Given the description of an element on the screen output the (x, y) to click on. 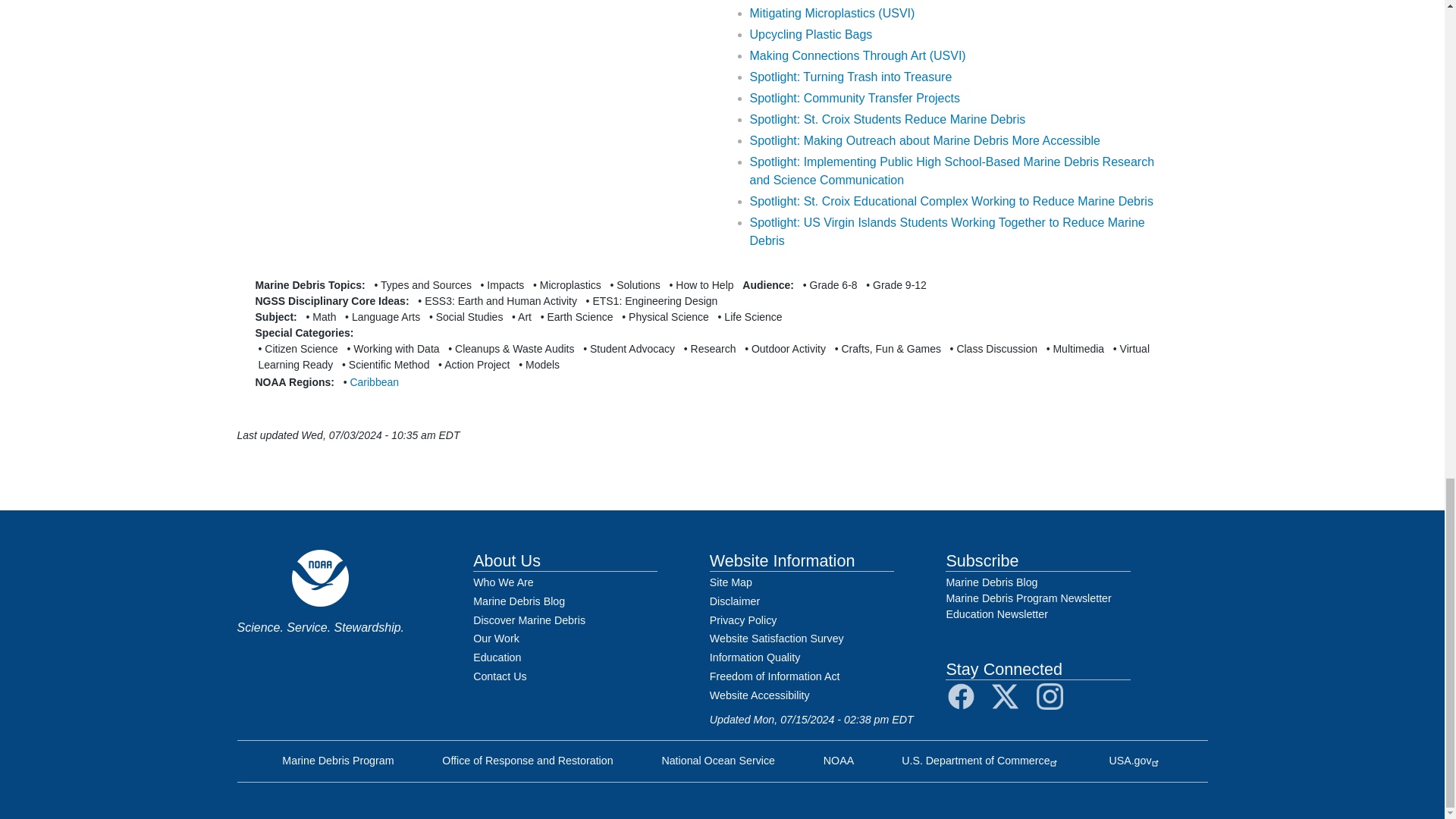
Instagram (1049, 696)
National Oceanic and Atmospheric Administration (838, 760)
Twitter (1004, 696)
Facebook (960, 696)
